Given the description of an element on the screen output the (x, y) to click on. 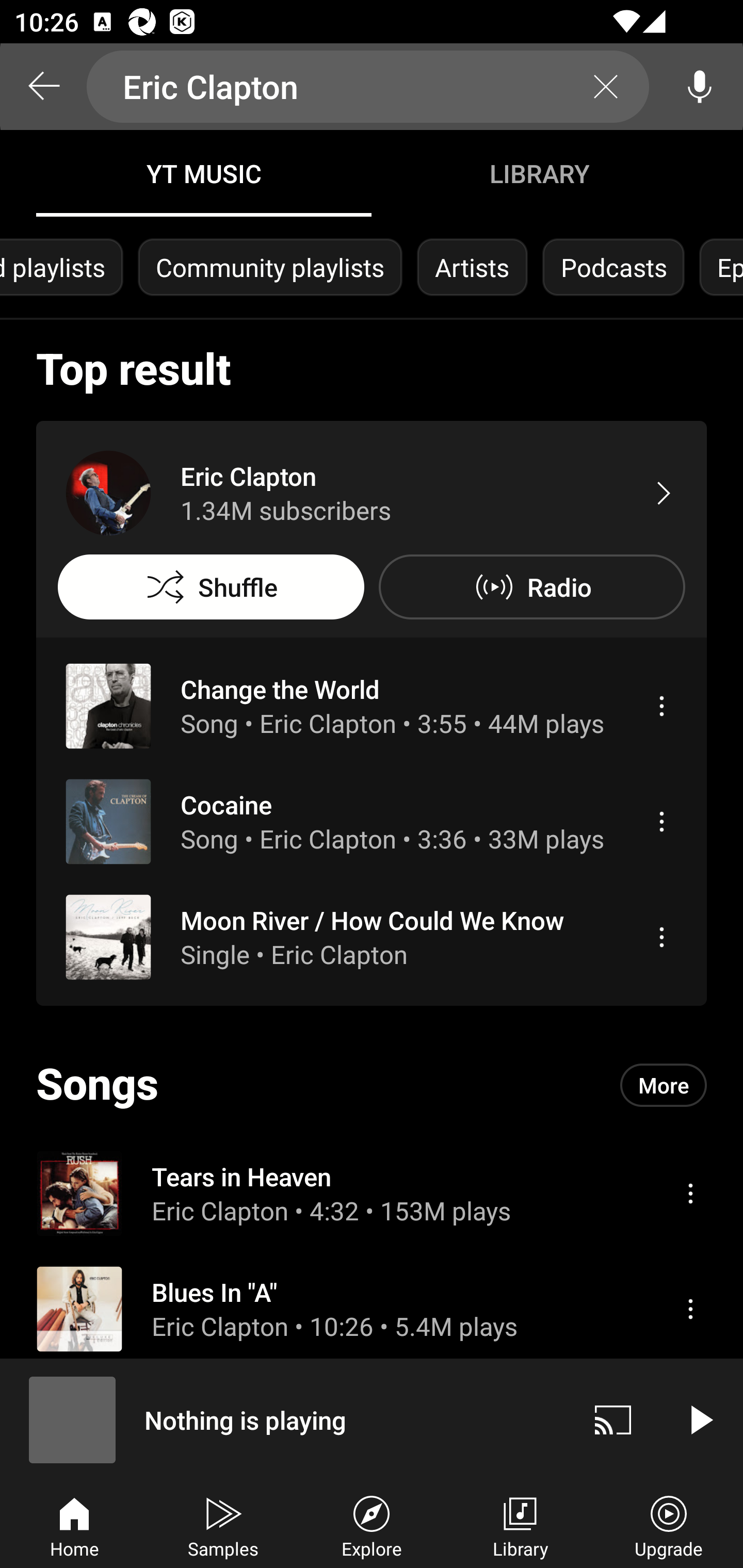
Search back (43, 86)
Eric Clapton (367, 86)
Clear search (605, 86)
Voice search (699, 86)
Library LIBRARY (538, 173)
Artists (471, 267)
Podcasts (613, 267)
Shuffle (210, 587)
Radio (531, 587)
Menu (661, 705)
Menu (661, 821)
Menu (661, 937)
Songs More More (371, 1084)
More (663, 1085)
Menu (690, 1193)
Menu (690, 1309)
Nothing is playing (284, 1419)
Cast. Disconnected (612, 1419)
Play video (699, 1419)
Home (74, 1524)
Samples (222, 1524)
Explore (371, 1524)
Library (519, 1524)
Upgrade (668, 1524)
